Given the description of an element on the screen output the (x, y) to click on. 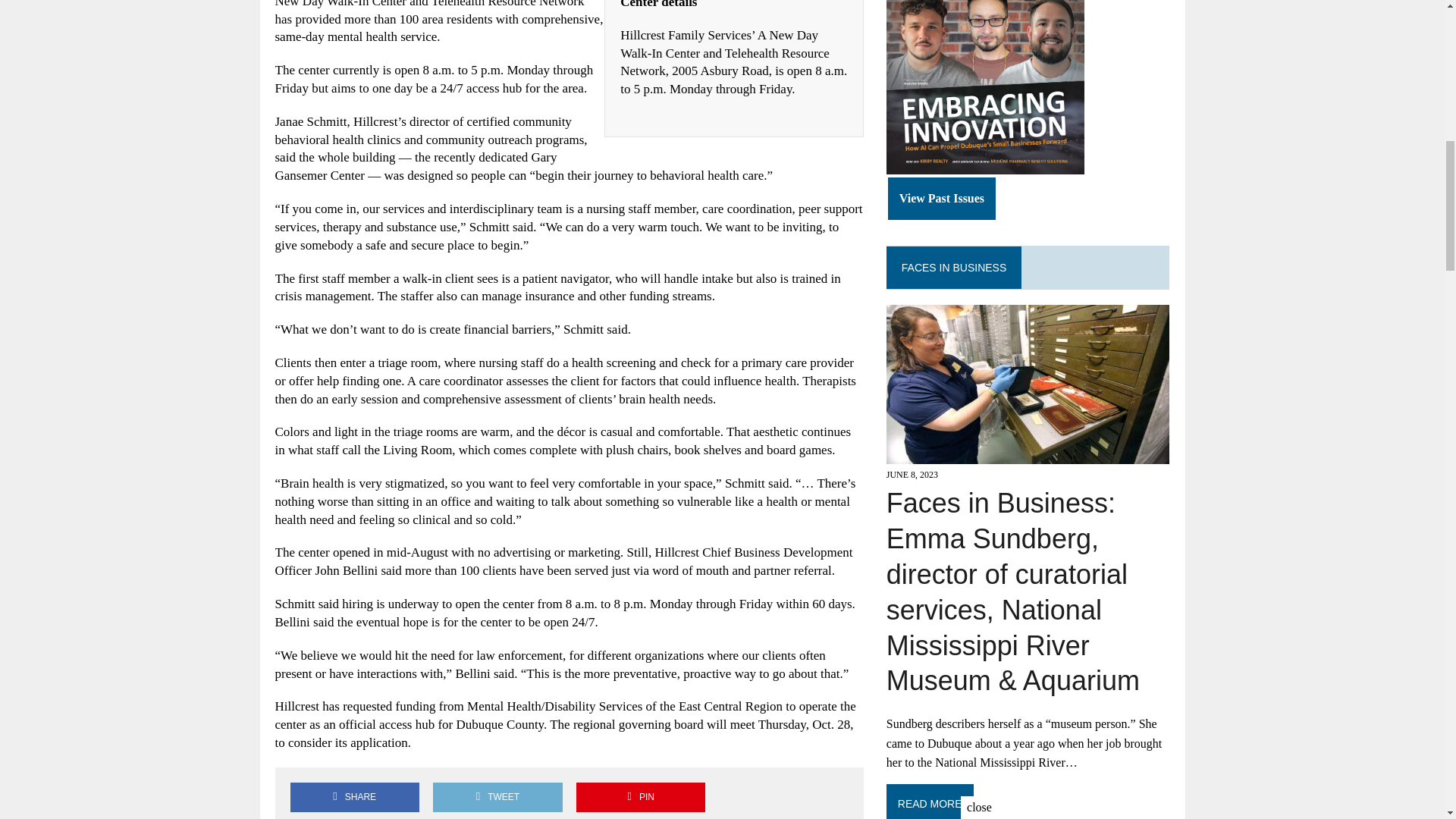
Pin This Post (640, 797)
Tweet This Post (497, 797)
Share on Facebook (354, 797)
